Given the description of an element on the screen output the (x, y) to click on. 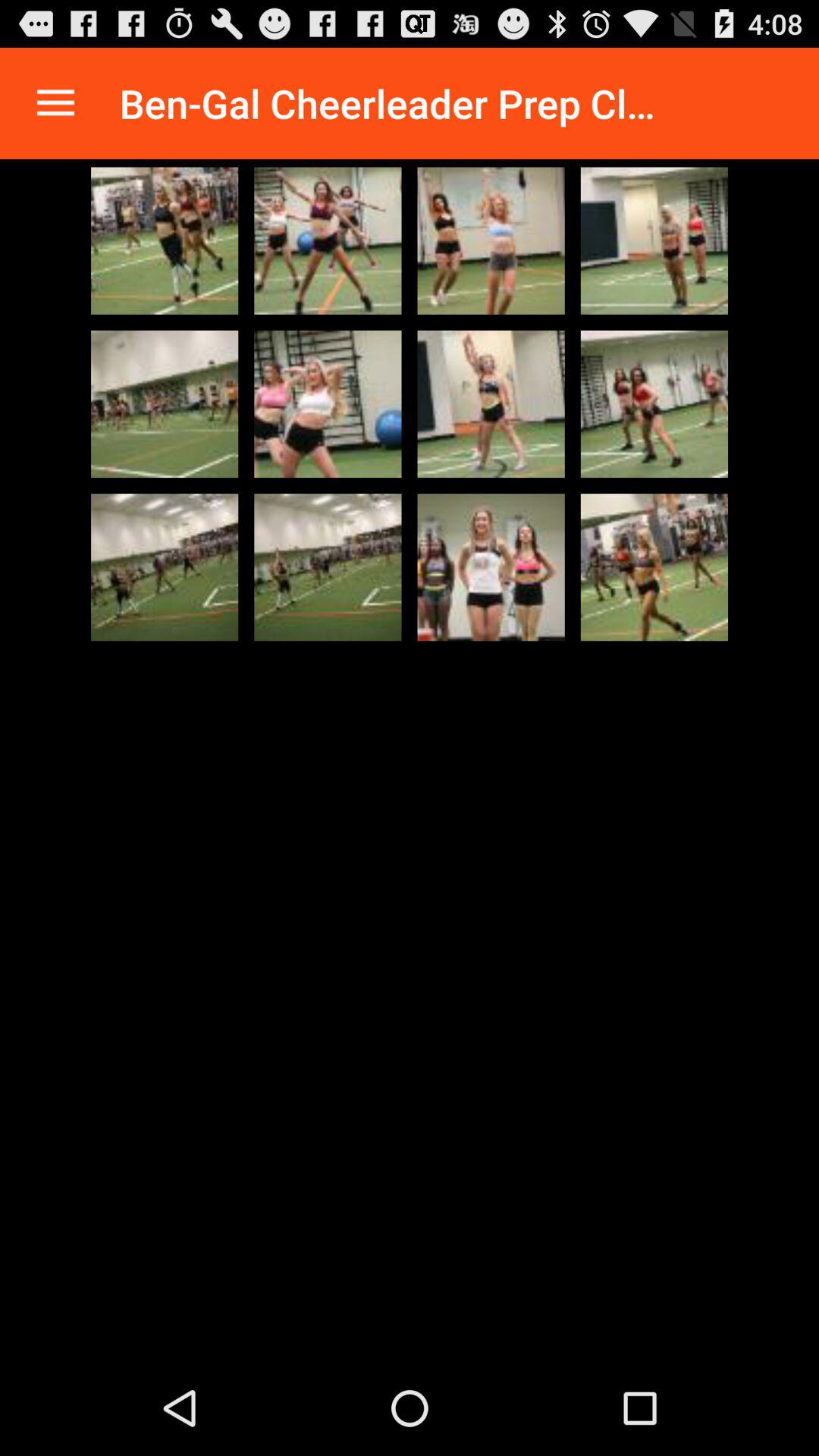
review menu (55, 103)
